Given the description of an element on the screen output the (x, y) to click on. 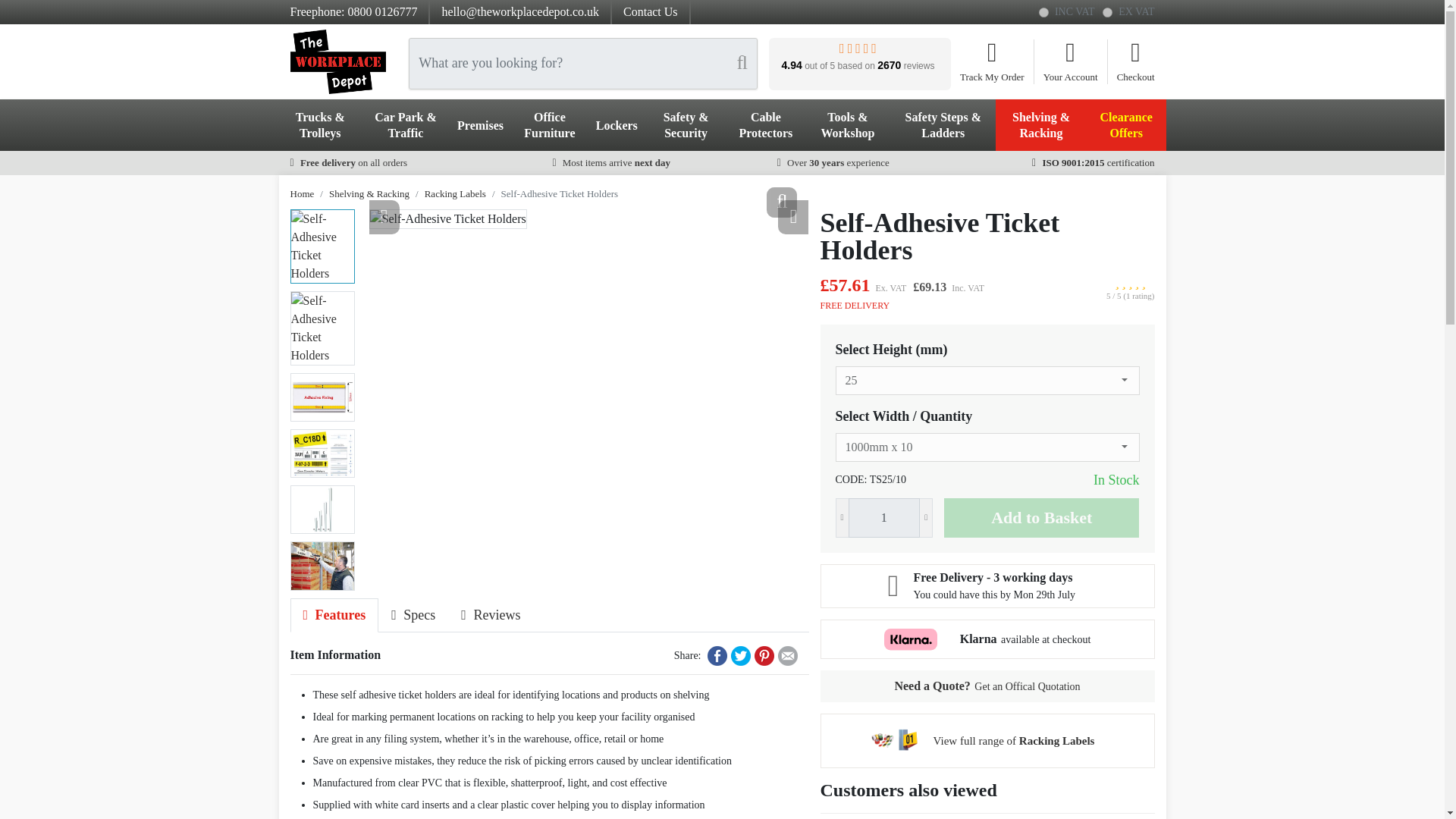
Pin it (763, 655)
Reviews Widget (859, 53)
Send email (787, 655)
1 (1043, 12)
Tweet (740, 655)
Racking Labels (1013, 740)
0 (1107, 12)
Track My Order (996, 62)
Freephone: 0800 0126777 (352, 11)
Share on Facebook (716, 655)
ISO 9001:2015 certification (1093, 162)
Premises (480, 124)
Your Account (1075, 62)
1 (884, 517)
Contact Us (650, 11)
